Given the description of an element on the screen output the (x, y) to click on. 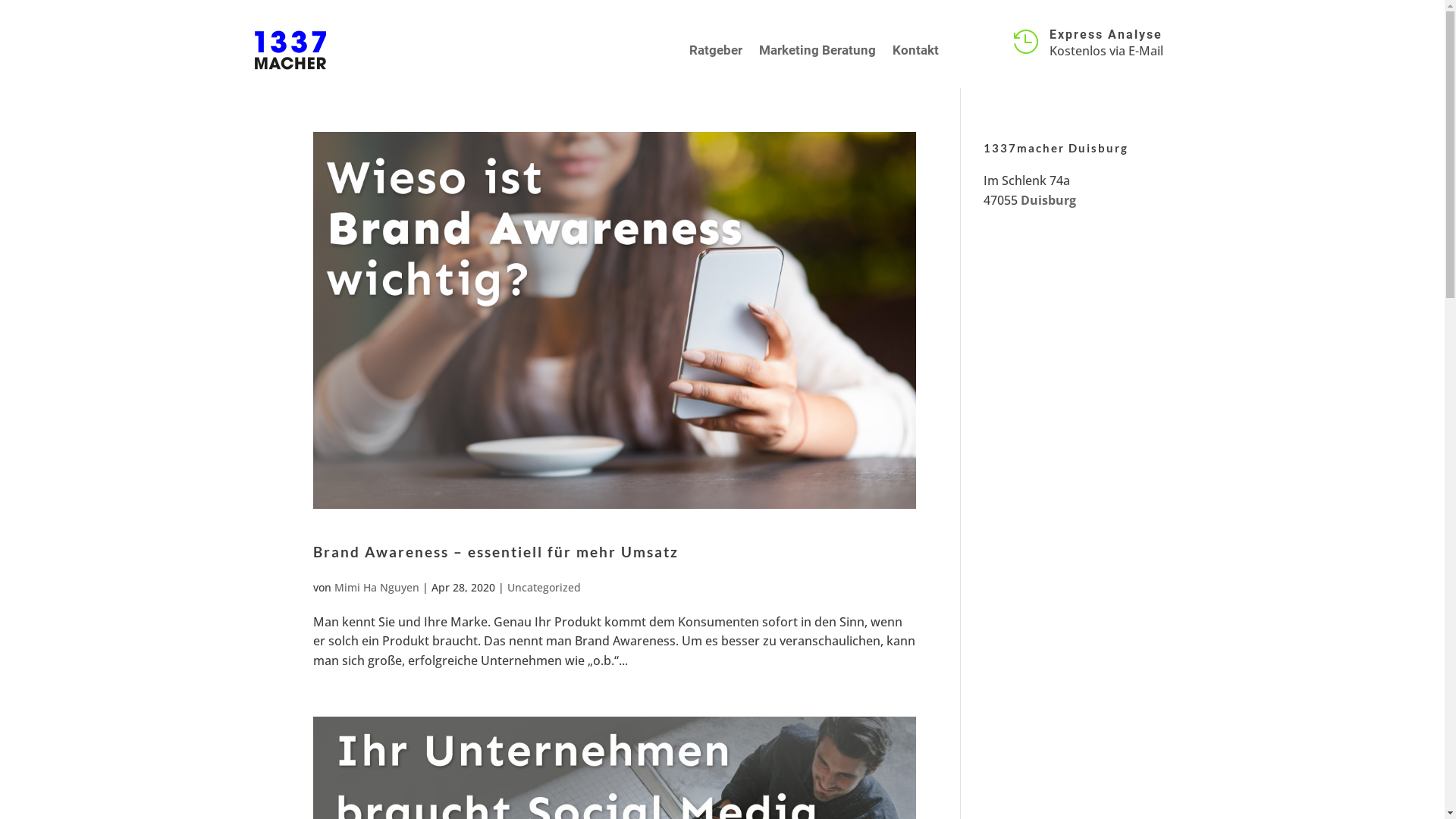
Ratgeber Element type: text (715, 49)
Mimi Ha Nguyen Element type: text (375, 587)
Duisburg Element type: text (1048, 199)
Marketing Beratung Element type: text (817, 49)
Express Analyse Element type: text (1105, 34)
Kontakt Element type: text (915, 49)
Uncategorized Element type: text (543, 587)
